Given the description of an element on the screen output the (x, y) to click on. 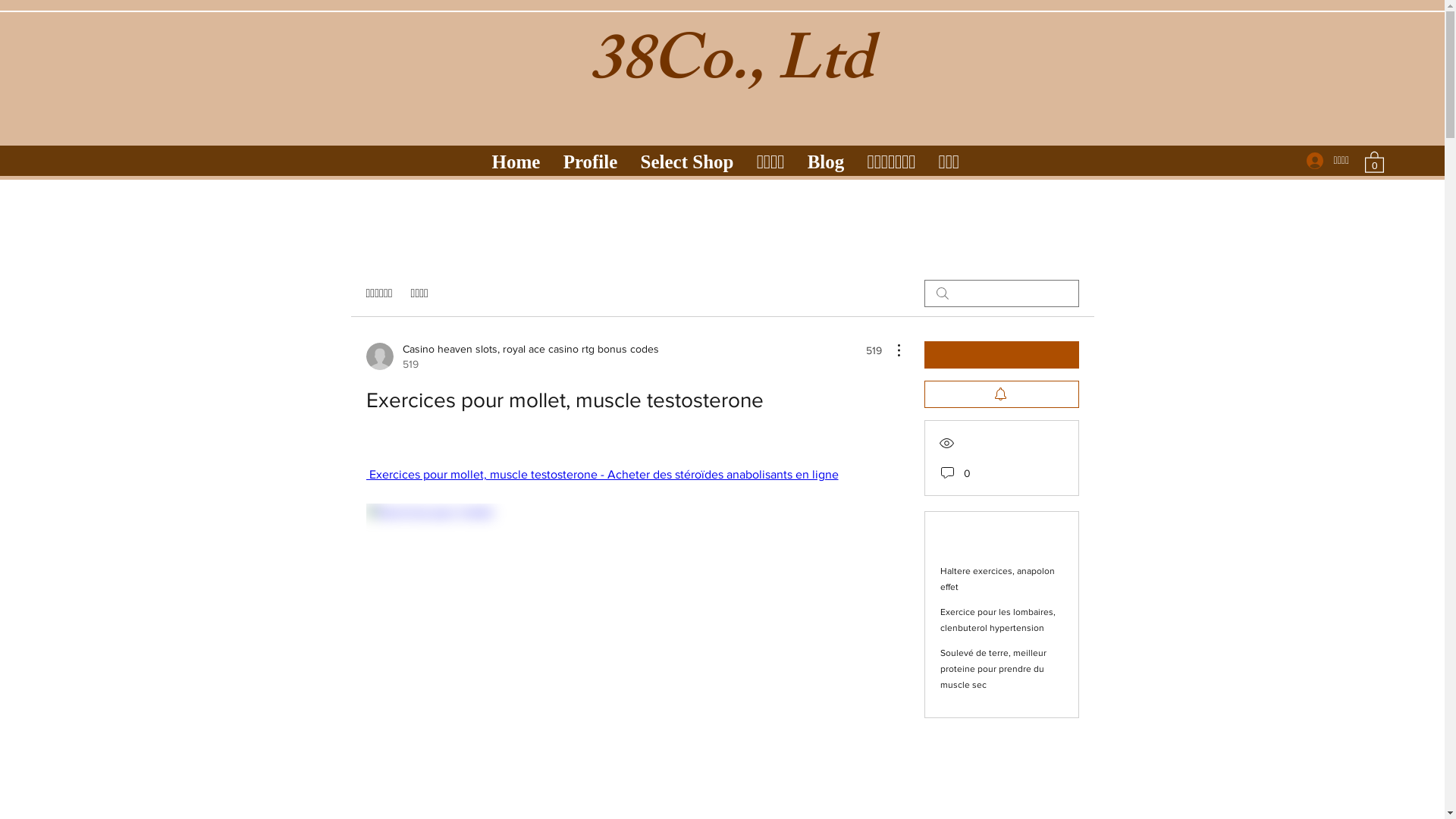
Haltere exercices, anapolon effet Element type: text (997, 578)
Select Shop Element type: text (687, 156)
Home Element type: text (516, 156)
Profile Element type: text (590, 156)
Exercice pour les lombaires, clenbuterol hypertension Element type: text (997, 619)
0 Element type: text (1374, 161)
Blog Element type: text (826, 156)
